Given the description of an element on the screen output the (x, y) to click on. 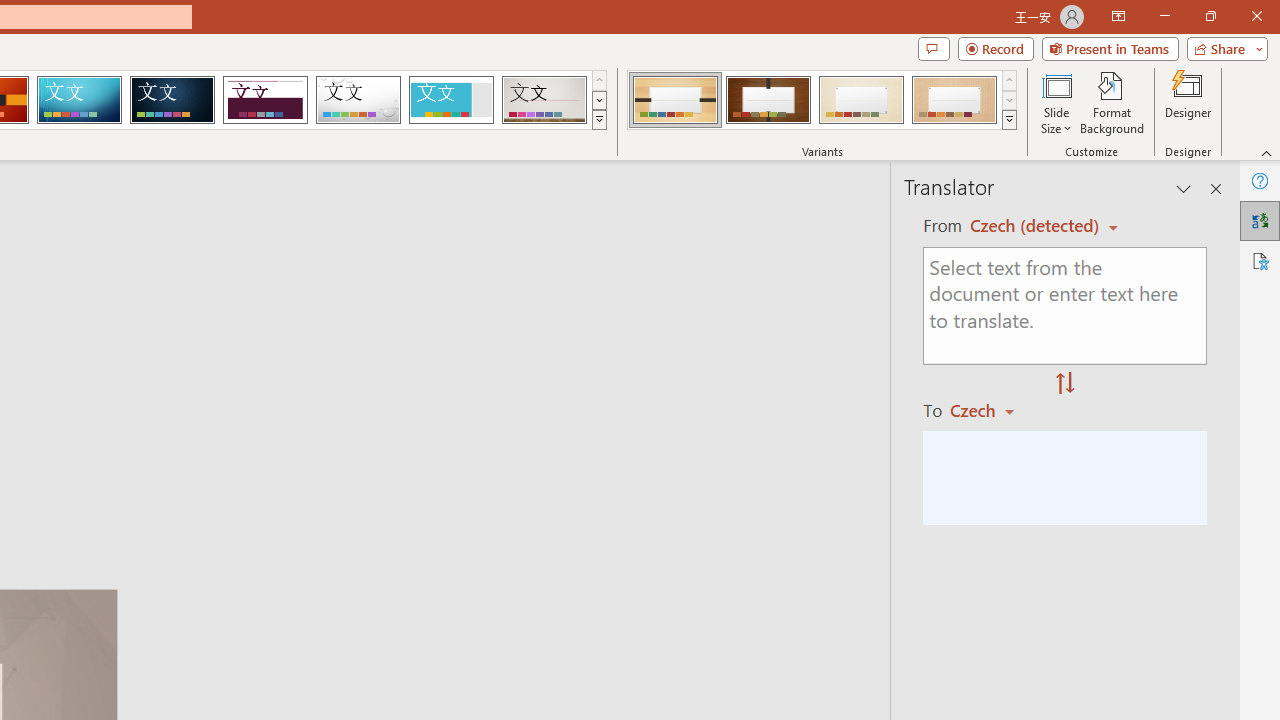
Variants (1009, 120)
Dividend (265, 100)
Czech (detected) (1037, 225)
Organic Variant 2 (768, 100)
AutomationID: ThemeVariantsGallery (822, 99)
